Given the description of an element on the screen output the (x, y) to click on. 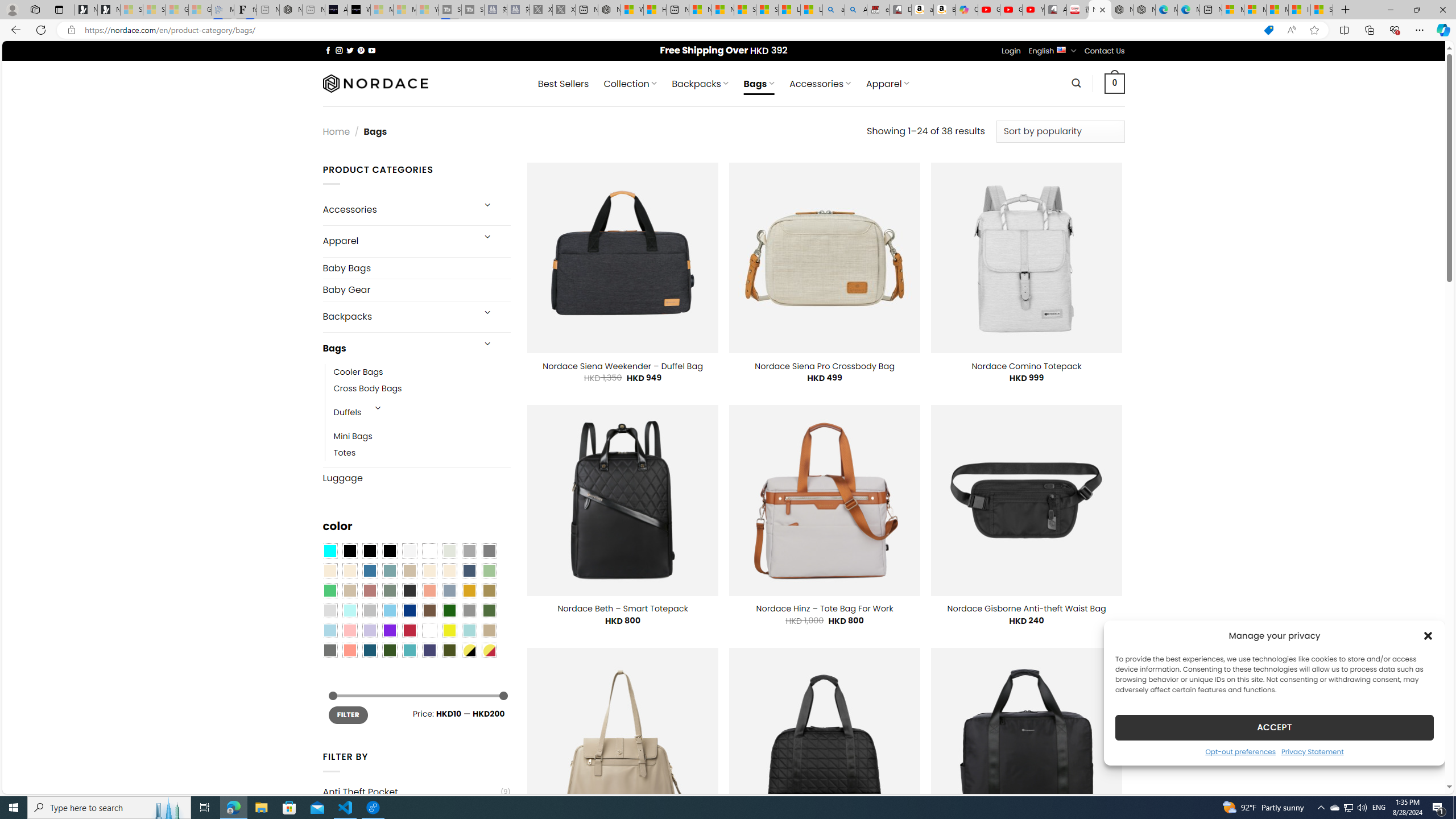
Luggage (416, 477)
Black (369, 550)
Cooler Bags (422, 371)
Wildlife - MSN (631, 9)
Backpacks (397, 316)
Beige-Brown (349, 570)
Dark Green (449, 610)
 Best Sellers (563, 83)
Huge shark washes ashore at New York City beach | Watch (655, 9)
Microsoft account | Privacy (1255, 9)
Opt-out preferences (1240, 750)
Red (408, 630)
Microsoft Start (1276, 9)
